Given the description of an element on the screen output the (x, y) to click on. 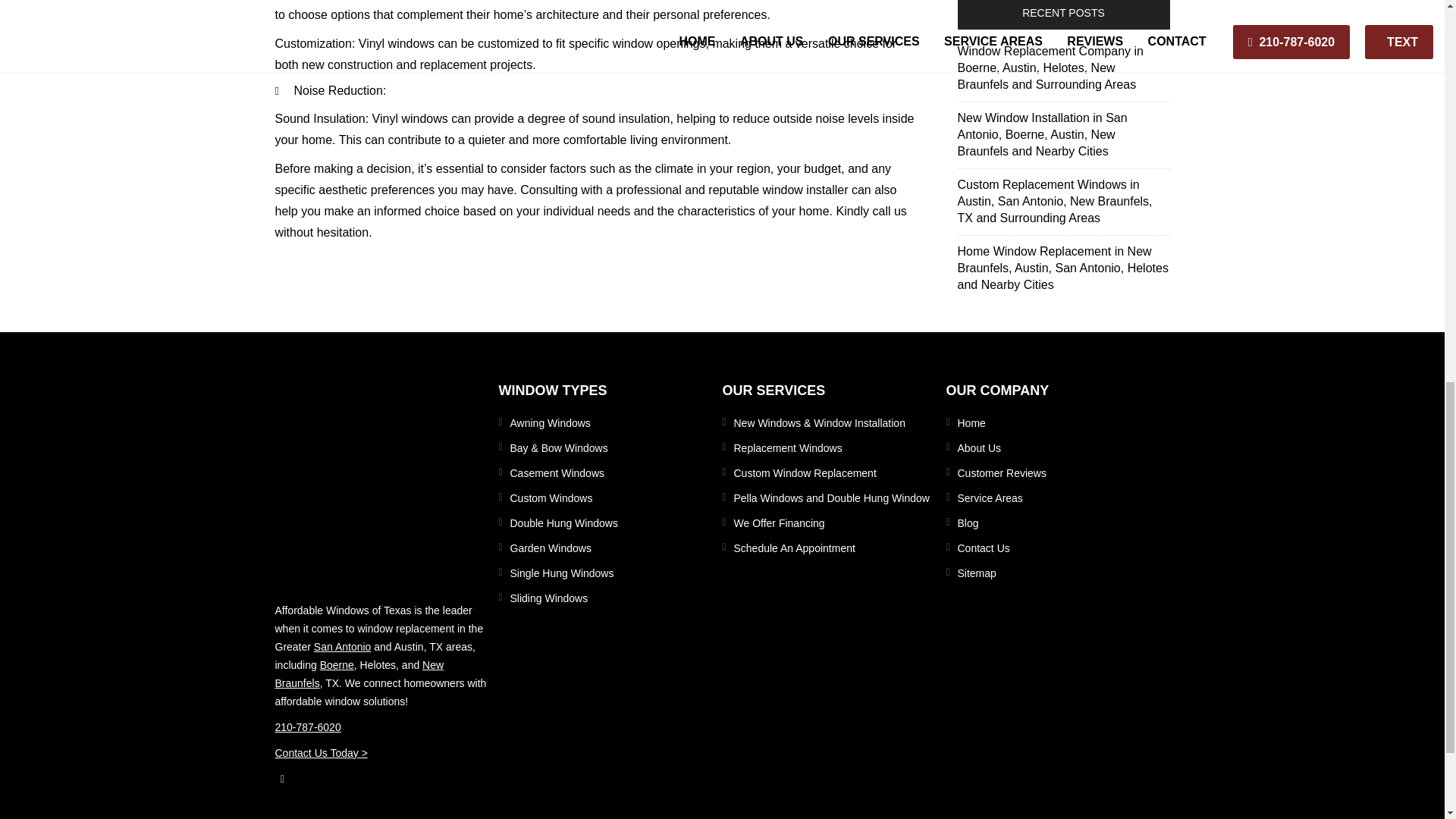
Custom Window Replacement (833, 473)
Awning Windows (609, 423)
San Antonio (342, 646)
Casement Windows (609, 473)
Replacement Windows (833, 447)
210-787-6020 (380, 727)
We Offer Financing (833, 522)
Sliding Windows (609, 598)
Garden Windows (609, 547)
